Given the description of an element on the screen output the (x, y) to click on. 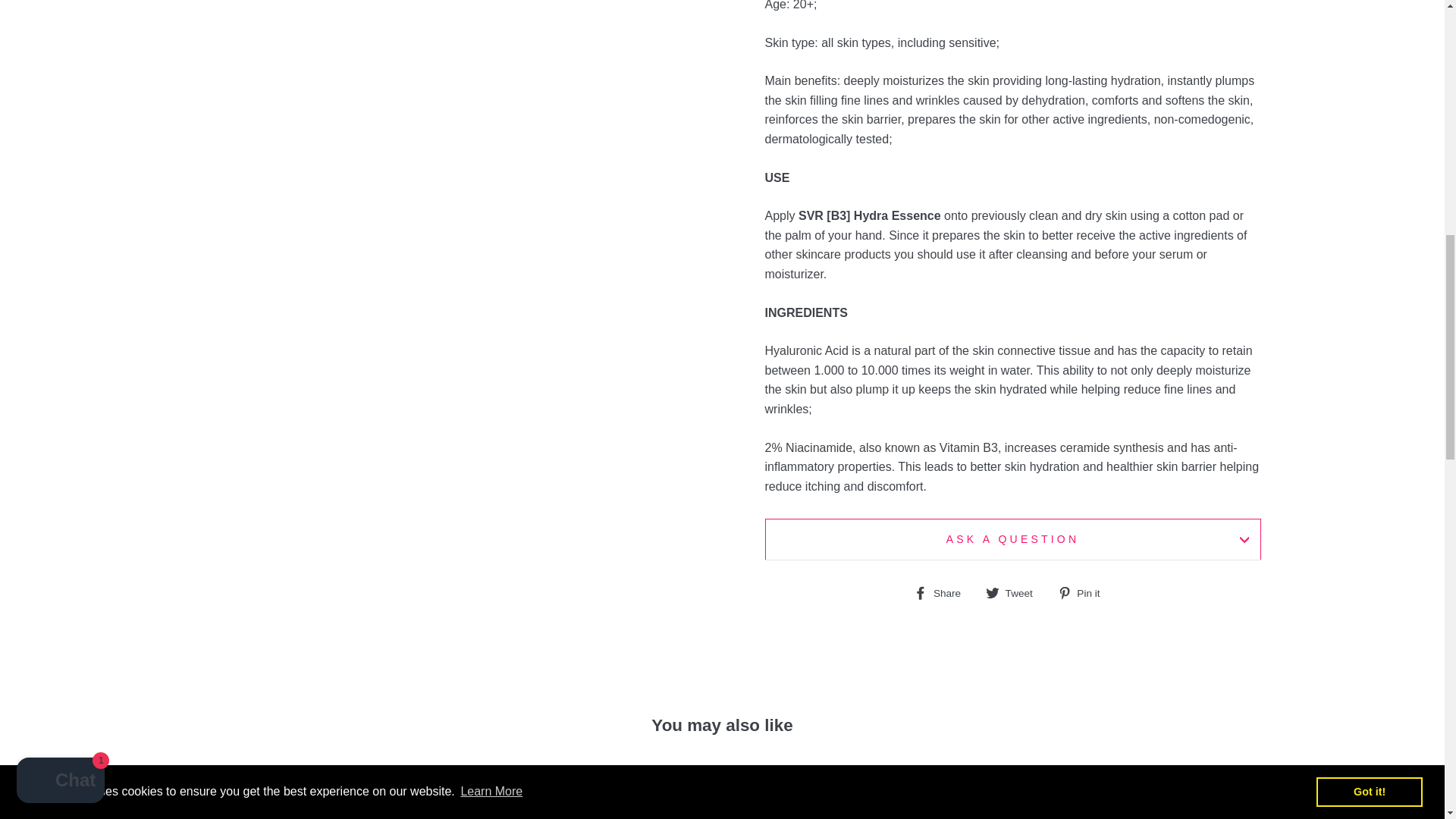
Share on Facebook (943, 592)
Tweet on Twitter (1014, 592)
Pin on Pinterest (1085, 592)
